Given the description of an element on the screen output the (x, y) to click on. 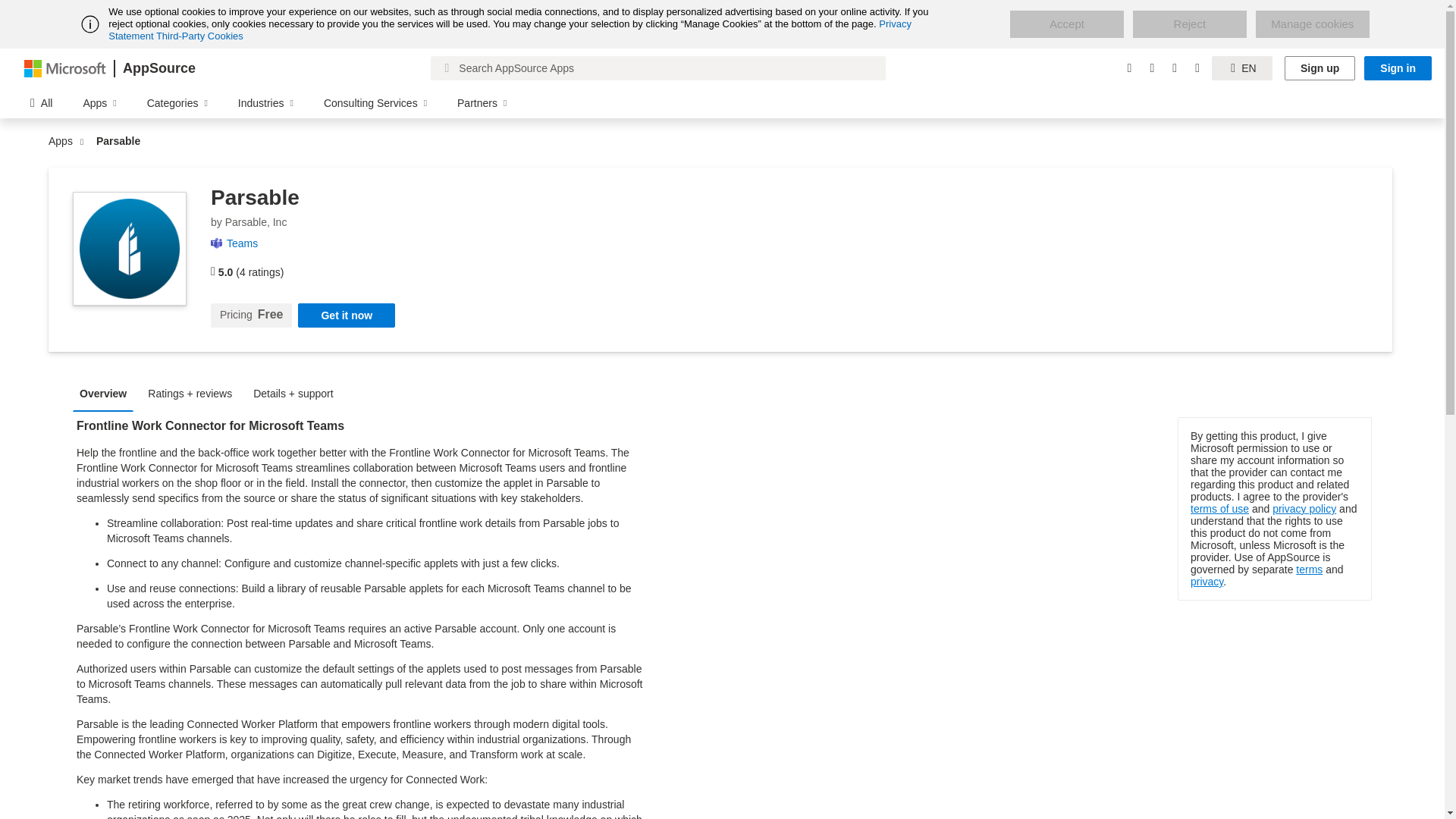
Privacy Statement (509, 29)
Sign in (1397, 68)
Sign up (1319, 68)
AppSource (158, 67)
Microsoft (65, 67)
privacy (1207, 581)
privacy policy (1304, 508)
terms (1308, 569)
Overview (106, 392)
Third-Party Cookies (199, 35)
Apps (64, 141)
Accept (1067, 23)
Teams (248, 243)
terms of use (1220, 508)
Reject (1189, 23)
